Given the description of an element on the screen output the (x, y) to click on. 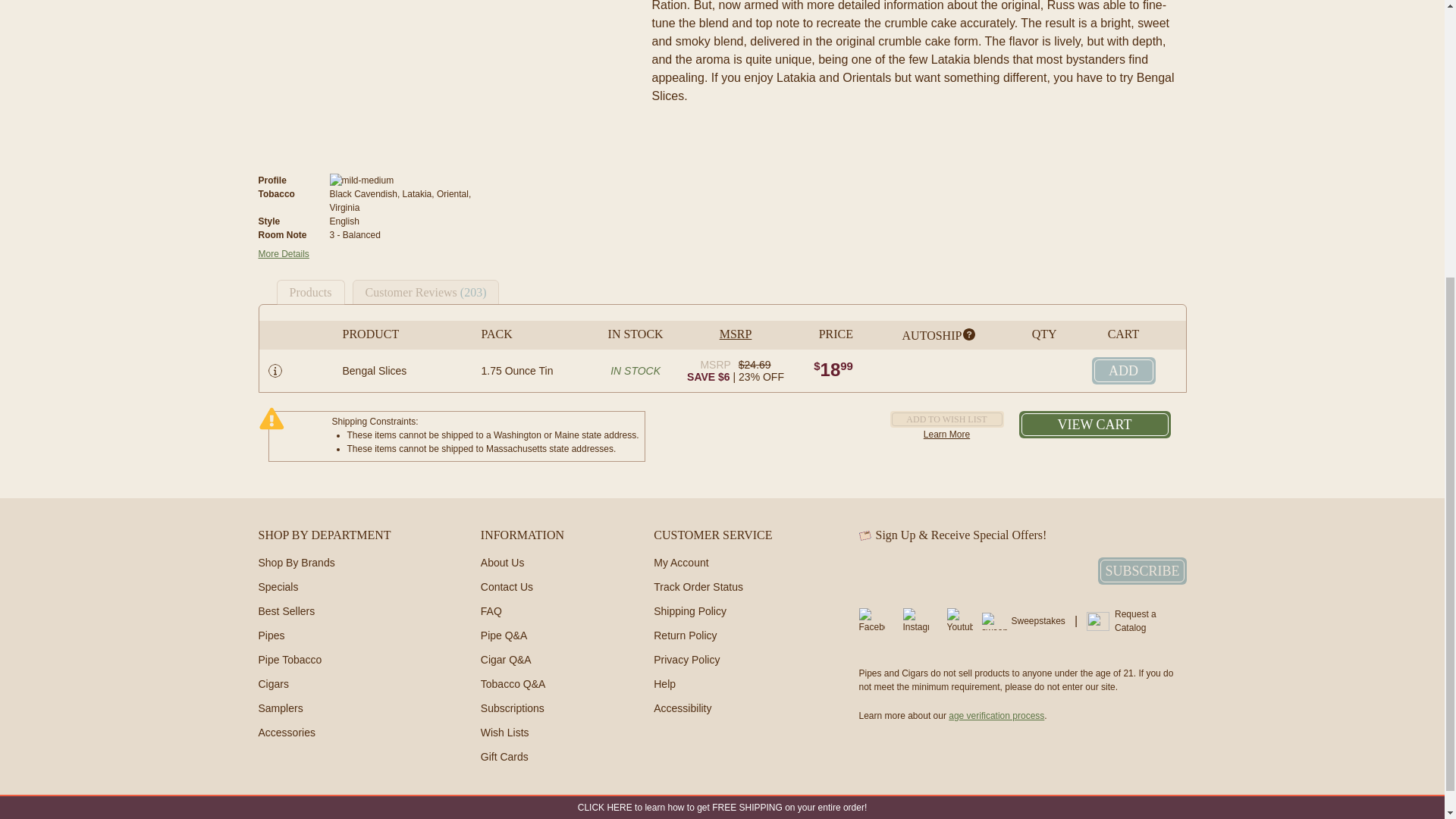
Go to Gift Cards (504, 756)
Go to Subscriptions (512, 707)
Go to Pipe Tobacco (289, 659)
Go to Best Sellers (285, 611)
Go to Pipes (270, 635)
Go to Wish Lists (504, 732)
Go to Cigars (272, 684)
Go to Specials (277, 586)
Go to Contact Us (506, 586)
Go to About Us (502, 562)
Quick View for Bengal Slices (274, 370)
Go to Samplers (279, 707)
Go to FAQ (491, 611)
Go to My Account (680, 562)
Go to Accessories (285, 732)
